Given the description of an element on the screen output the (x, y) to click on. 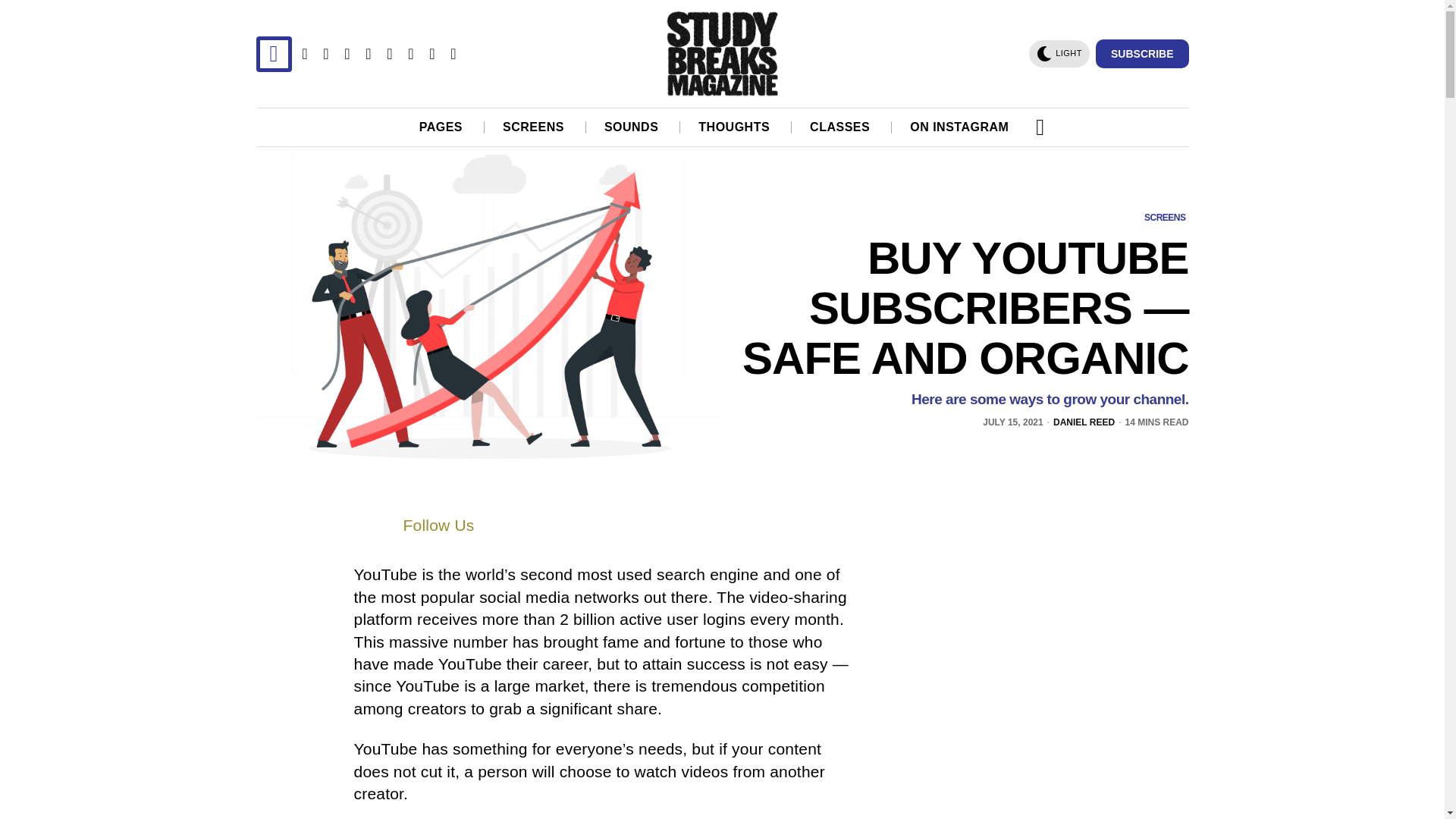
SCREENS (534, 127)
THOUGHTS (734, 127)
SUBSCRIBE (1142, 53)
CLASSES (840, 127)
SOUNDS (632, 127)
PAGES (441, 127)
15 Jul, 2021 07:48:45 (1012, 422)
ON INSTAGRAM (960, 127)
